Given the description of an element on the screen output the (x, y) to click on. 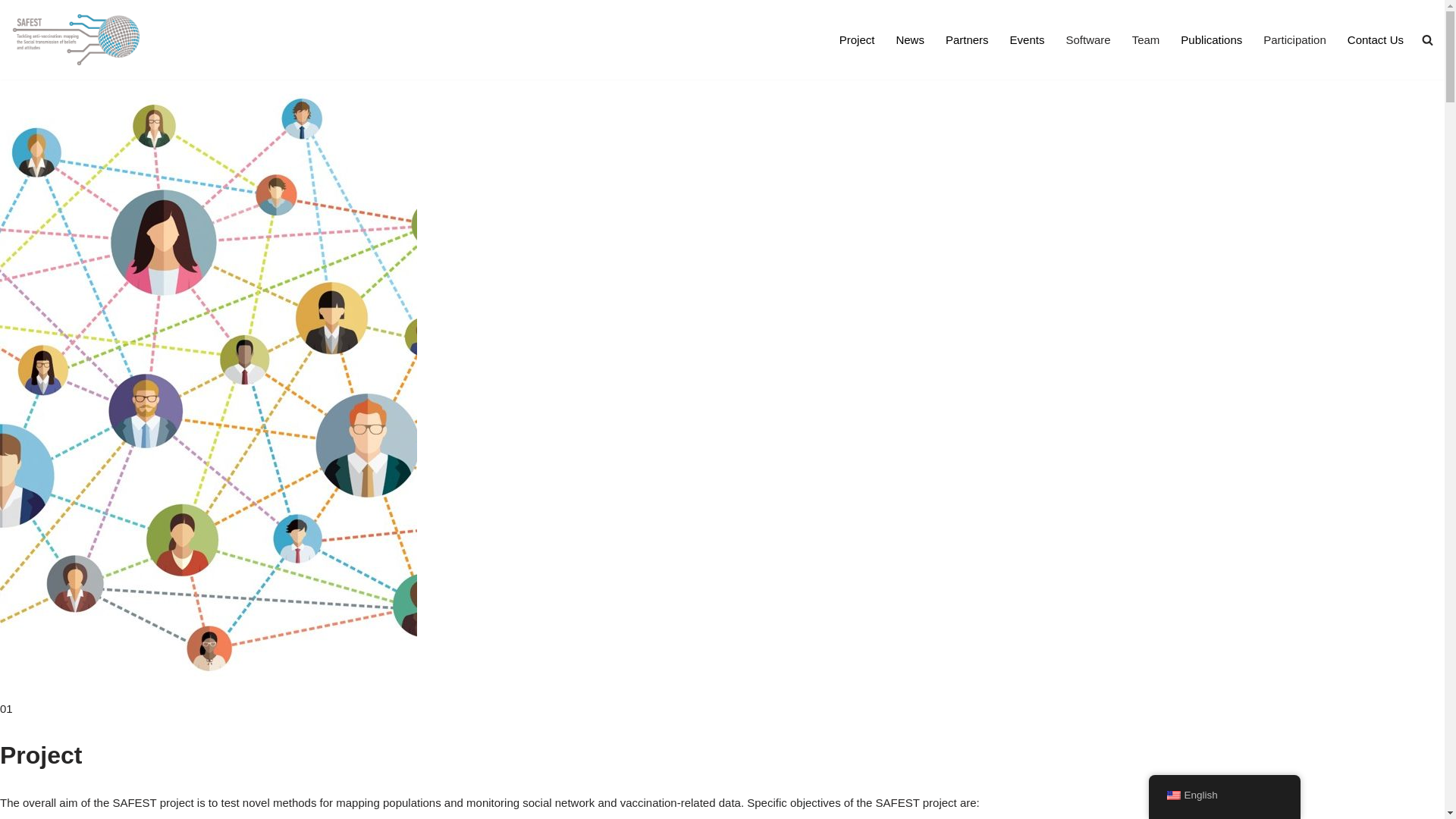
Participation Element type: text (1294, 39)
Team Element type: text (1146, 39)
Project Element type: text (857, 39)
937CAE37AE7448599B42982EED09FC94 Element type: hover (208, 387)
Publications Element type: text (1211, 39)
News Element type: text (909, 39)
English Element type: hover (1172, 795)
Contact Us Element type: text (1375, 39)
Events Element type: text (1027, 39)
Partners Element type: text (966, 39)
English Element type: text (1223, 795)
Software Element type: text (1087, 39)
Skip to content Element type: text (11, 31)
